Given the description of an element on the screen output the (x, y) to click on. 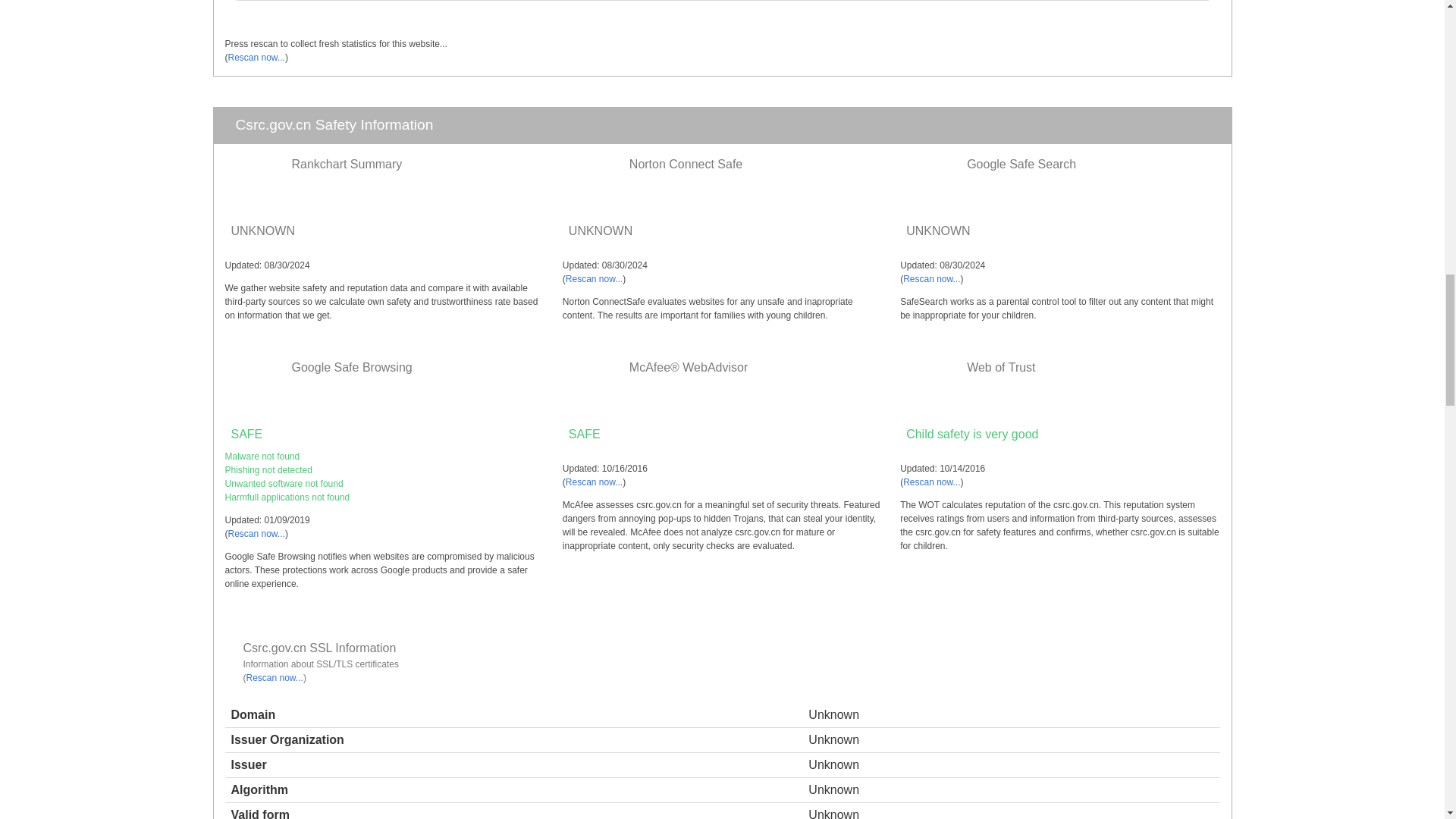
Rescan now... (594, 278)
Rescan now... (255, 57)
Rescan now... (930, 278)
